Given the description of an element on the screen output the (x, y) to click on. 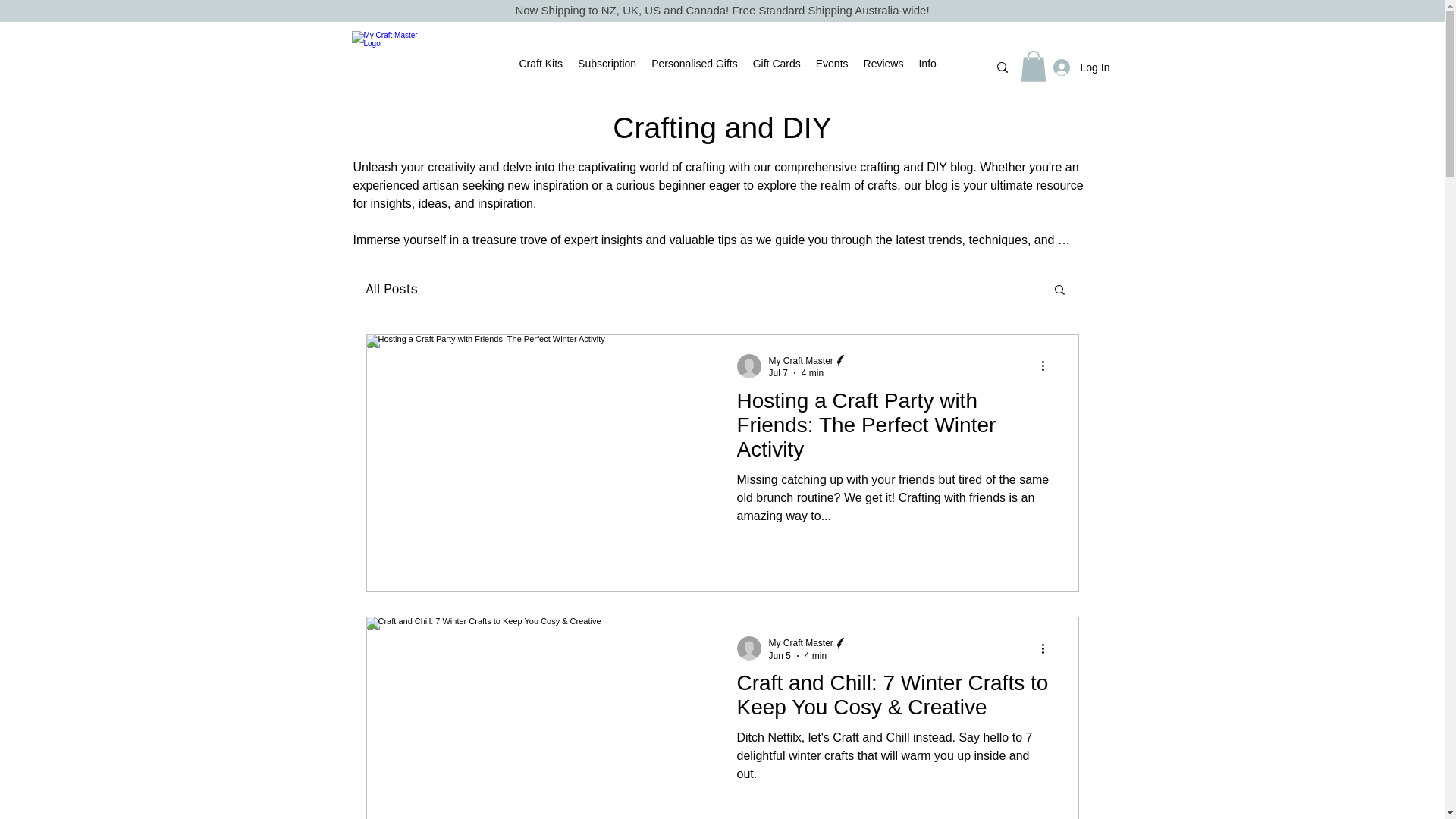
My Craft Master (800, 360)
Reviews (883, 65)
Jun 5 (779, 655)
Craft Kits (540, 65)
My Craft Master (807, 359)
My Craft Master (807, 643)
Events (832, 65)
4 min (816, 655)
